Given the description of an element on the screen output the (x, y) to click on. 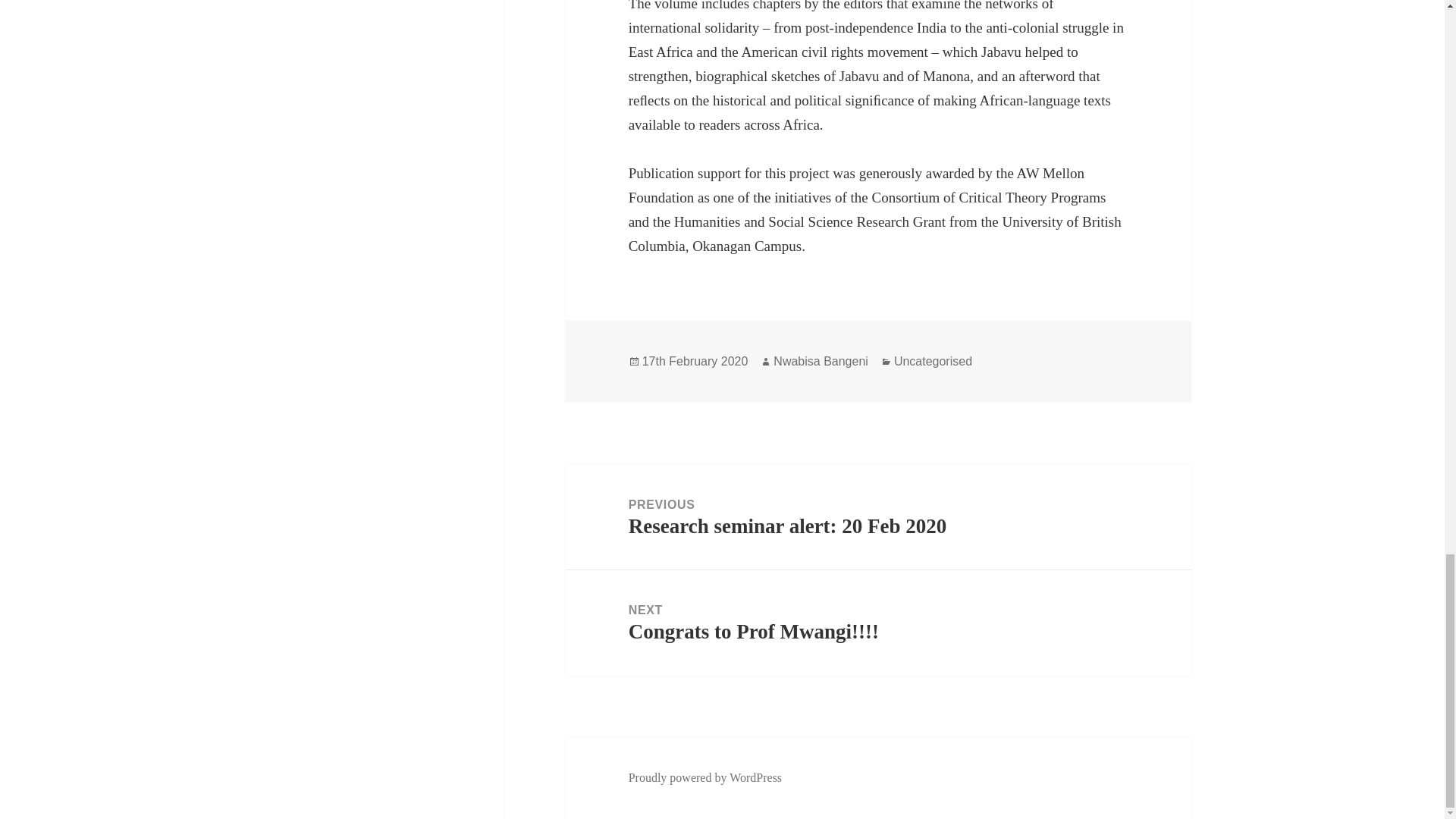
17th February 2020 (878, 516)
Nwabisa Bangeni (695, 361)
Proudly powered by WordPress (820, 361)
Uncategorised (878, 622)
